Given the description of an element on the screen output the (x, y) to click on. 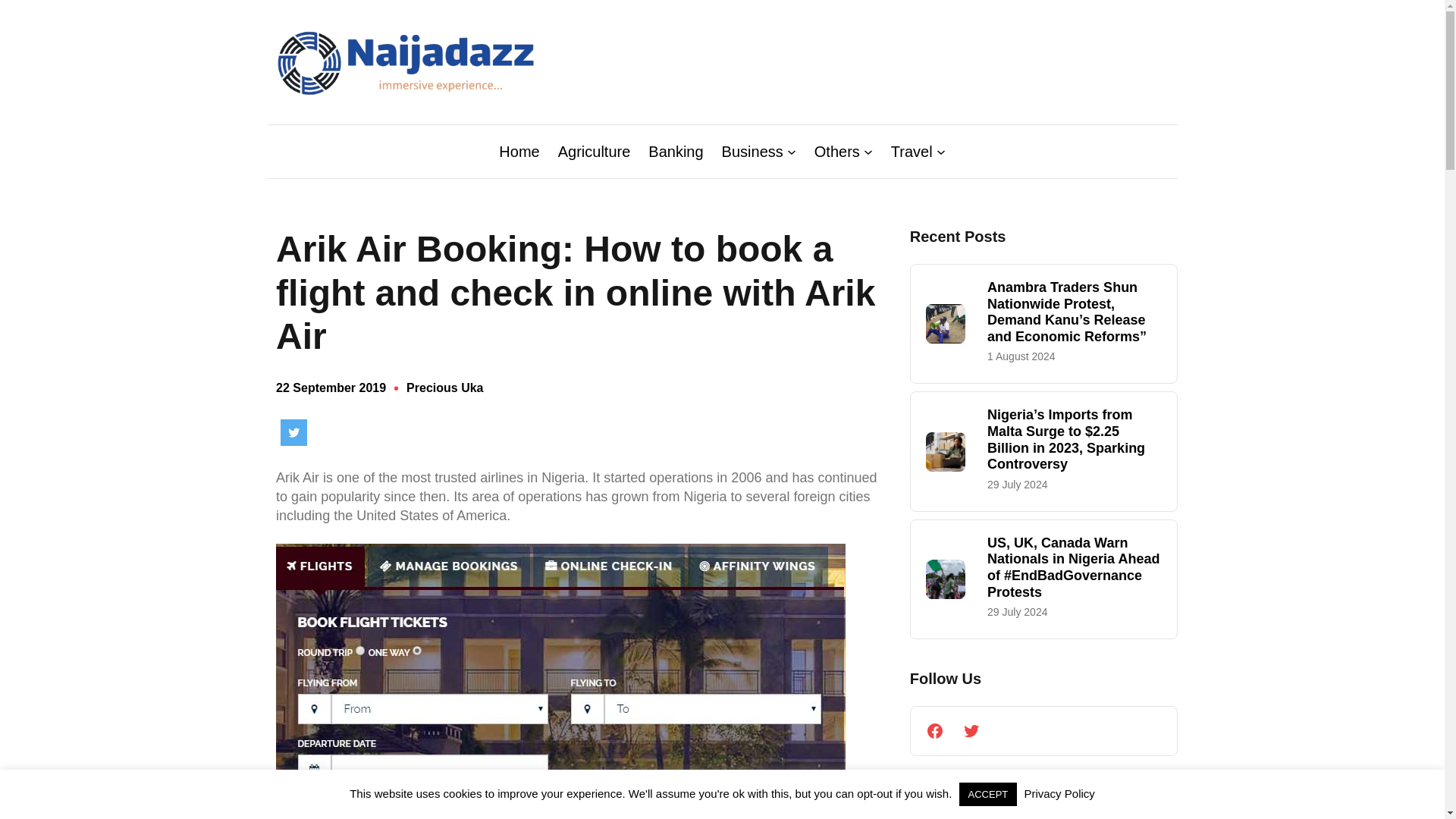
Home (518, 151)
Travel (912, 151)
Others (836, 151)
Banking (675, 151)
Agriculture (593, 151)
Business (752, 151)
Twitter (294, 432)
Precious Uka (444, 387)
